Given the description of an element on the screen output the (x, y) to click on. 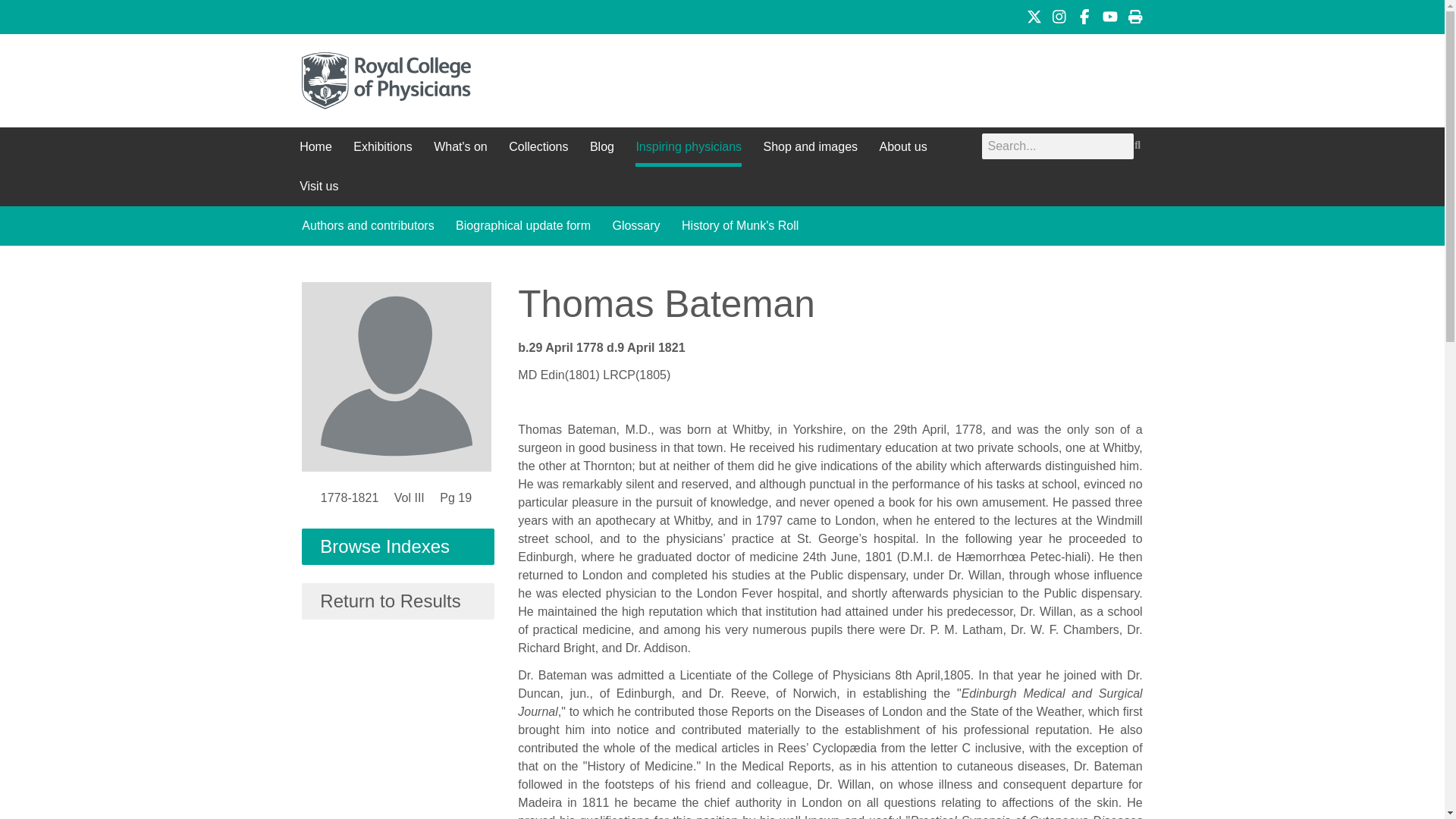
Enter the terms you wish to search for. (1057, 145)
What's on (460, 147)
Visit us (318, 186)
Exhibitions (382, 147)
Opens in a new window (1058, 16)
Collections (537, 147)
Authors and contributors (367, 225)
Biographical update form (523, 225)
Opens in a new window (1034, 16)
